Given the description of an element on the screen output the (x, y) to click on. 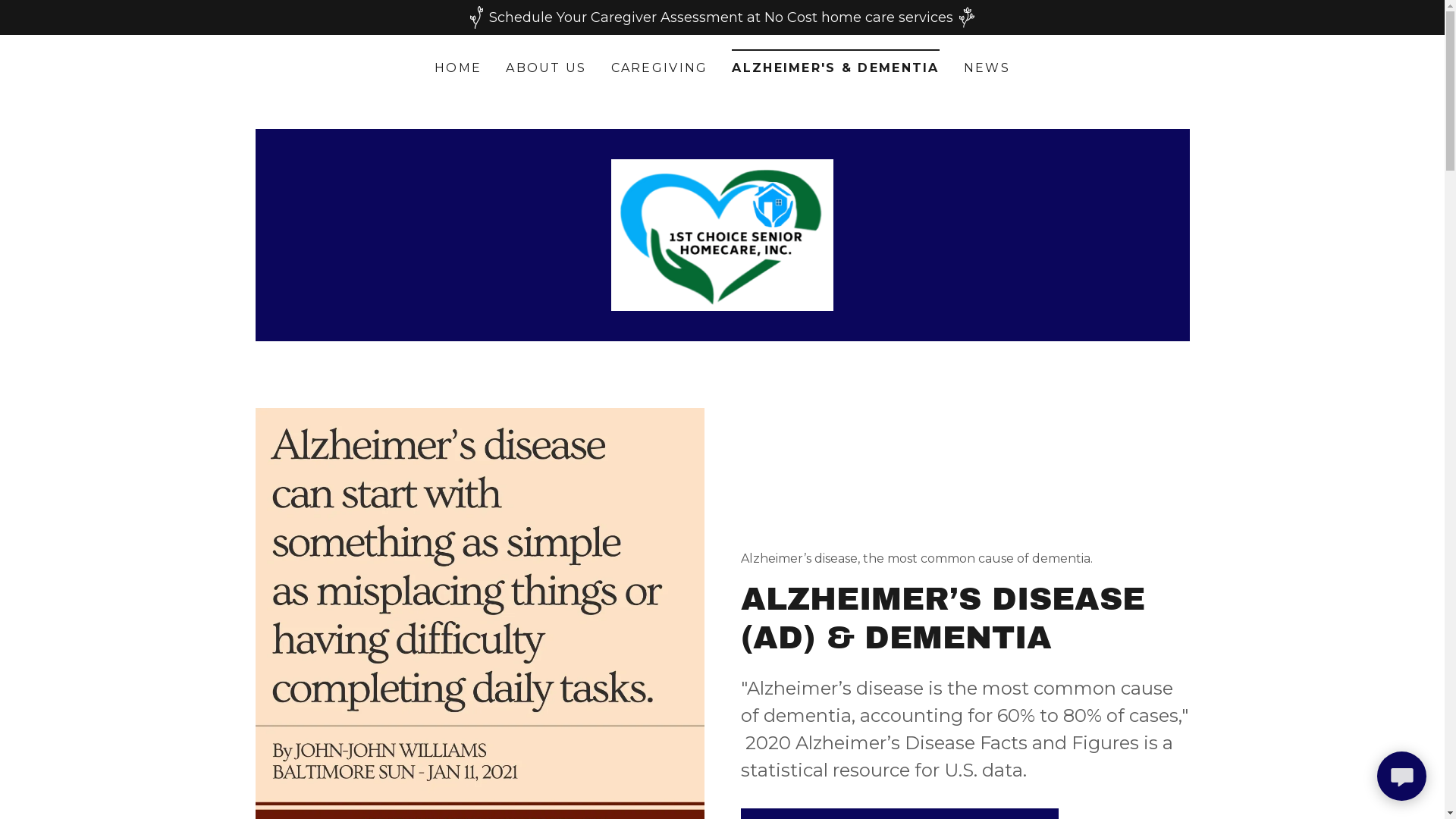
NEWS Element type: text (986, 67)
ALZHEIMER'S & DEMENTIA Element type: text (834, 63)
CAREGIVING Element type: text (659, 67)
HOME Element type: text (457, 67)
ABOUT US Element type: text (545, 67)
